Given the description of an element on the screen output the (x, y) to click on. 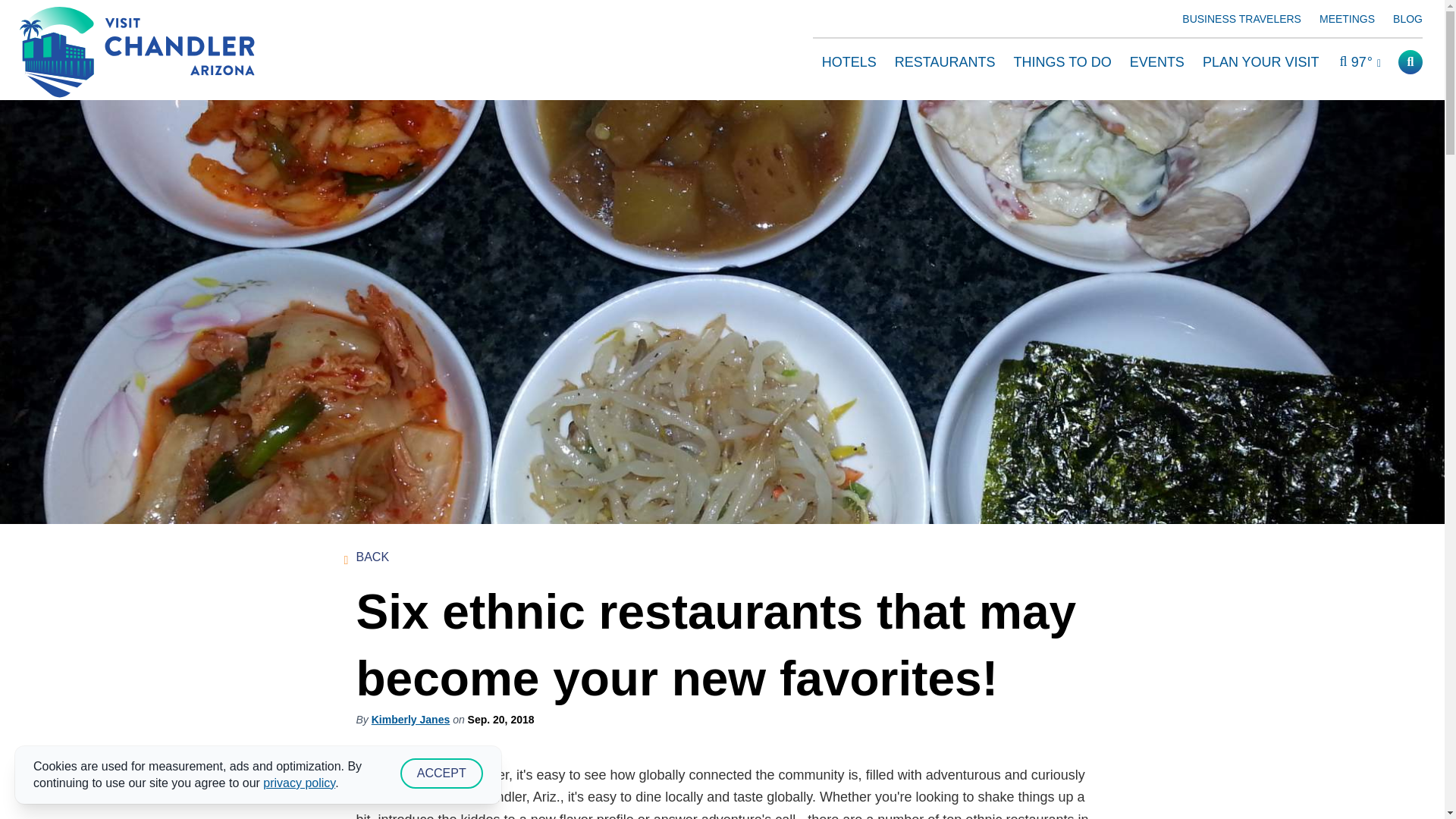
BLOG (1407, 21)
RESTAURANTS (945, 56)
THINGS TO DO (1061, 56)
HOTELS (849, 56)
EVENTS (1157, 56)
MEETINGS (1346, 21)
BUSINESS TRAVELERS (1241, 21)
PLAN YOUR VISIT (1260, 56)
